Given the description of an element on the screen output the (x, y) to click on. 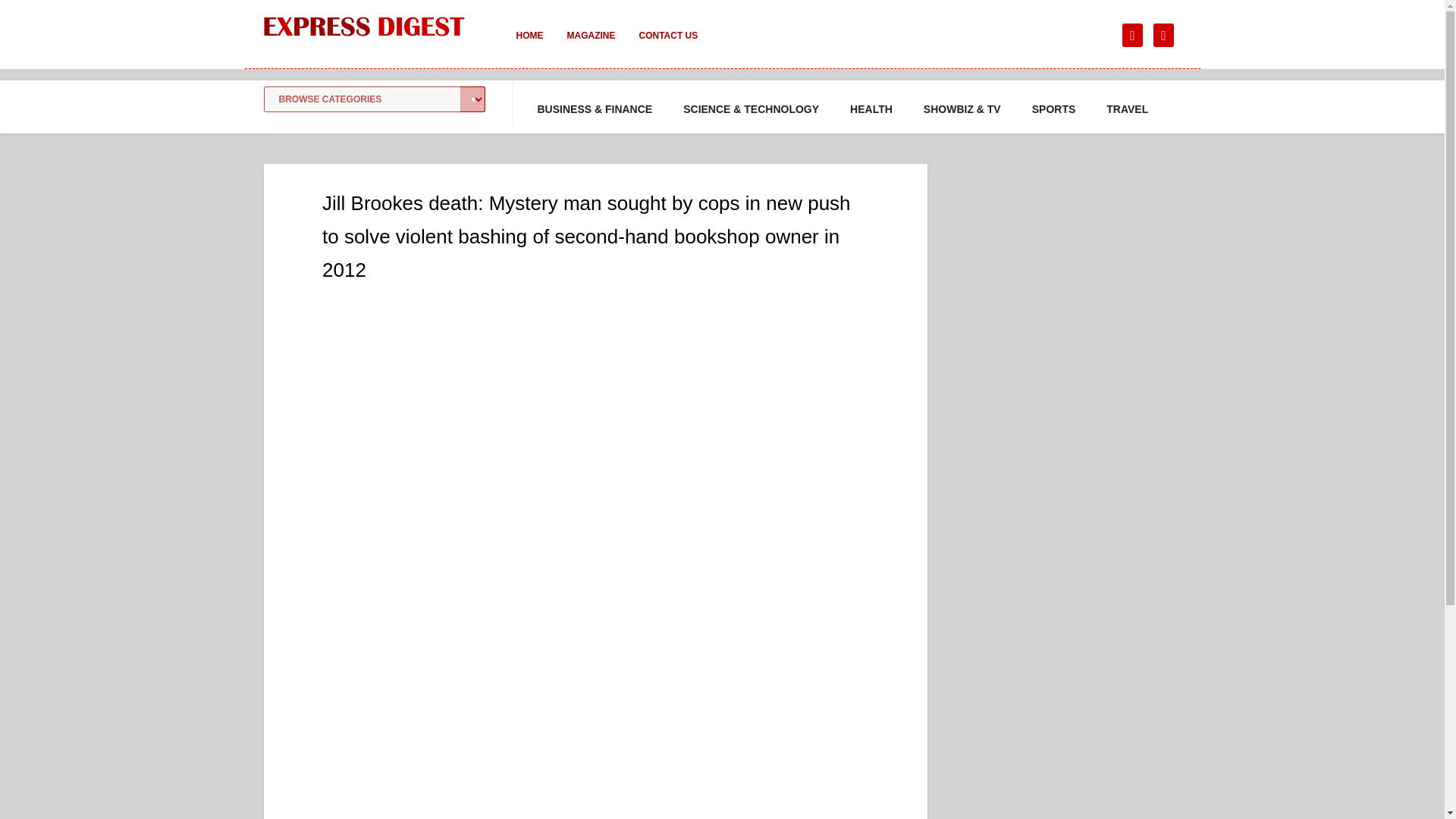
HEALTH (871, 109)
MAGAZINE (590, 45)
CONTACT US (667, 45)
TRAVEL (1127, 109)
SPORTS (1053, 109)
